Given the description of an element on the screen output the (x, y) to click on. 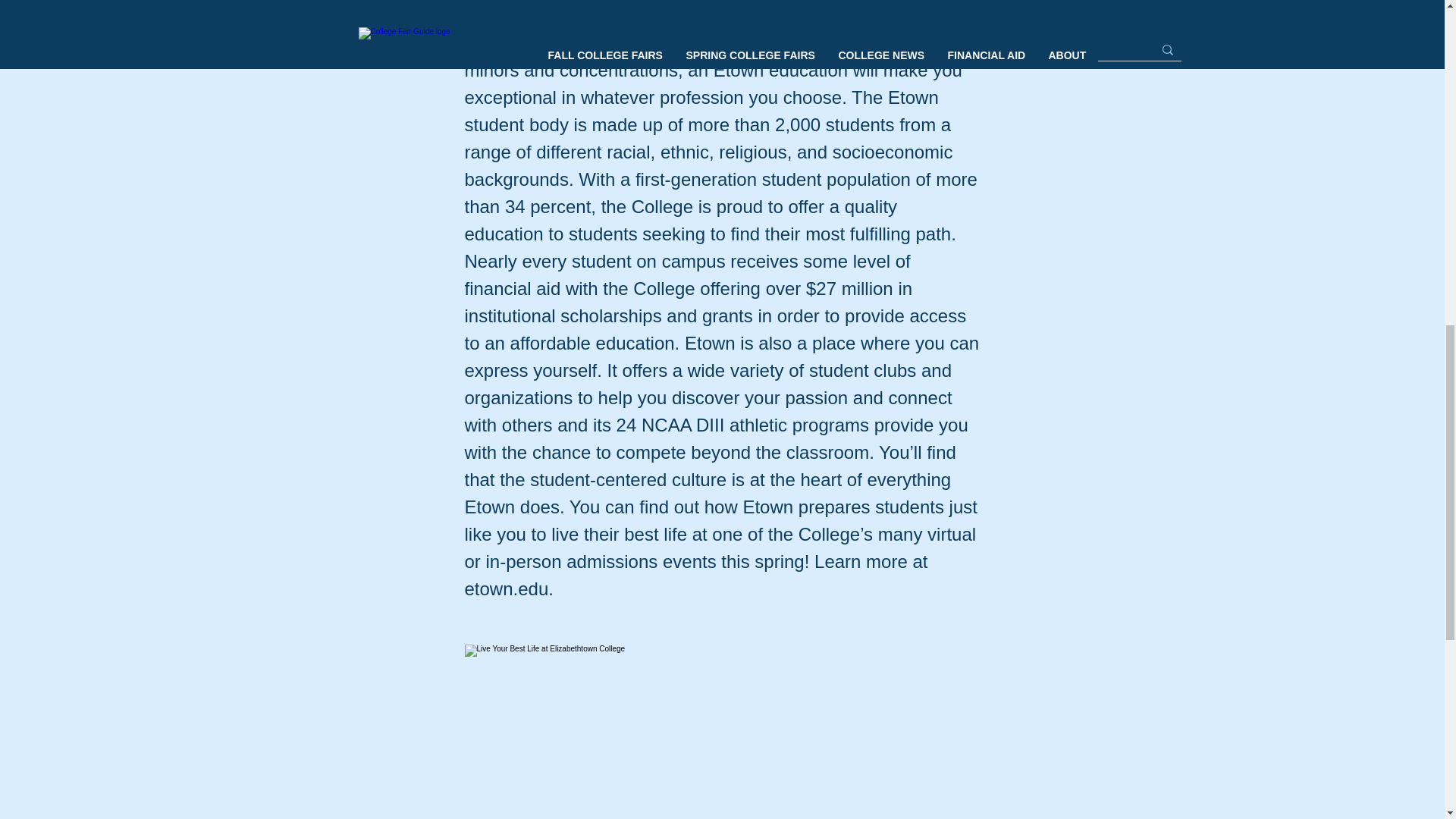
Live Your Best Life at Elizabethtown College (721, 731)
